Given the description of an element on the screen output the (x, y) to click on. 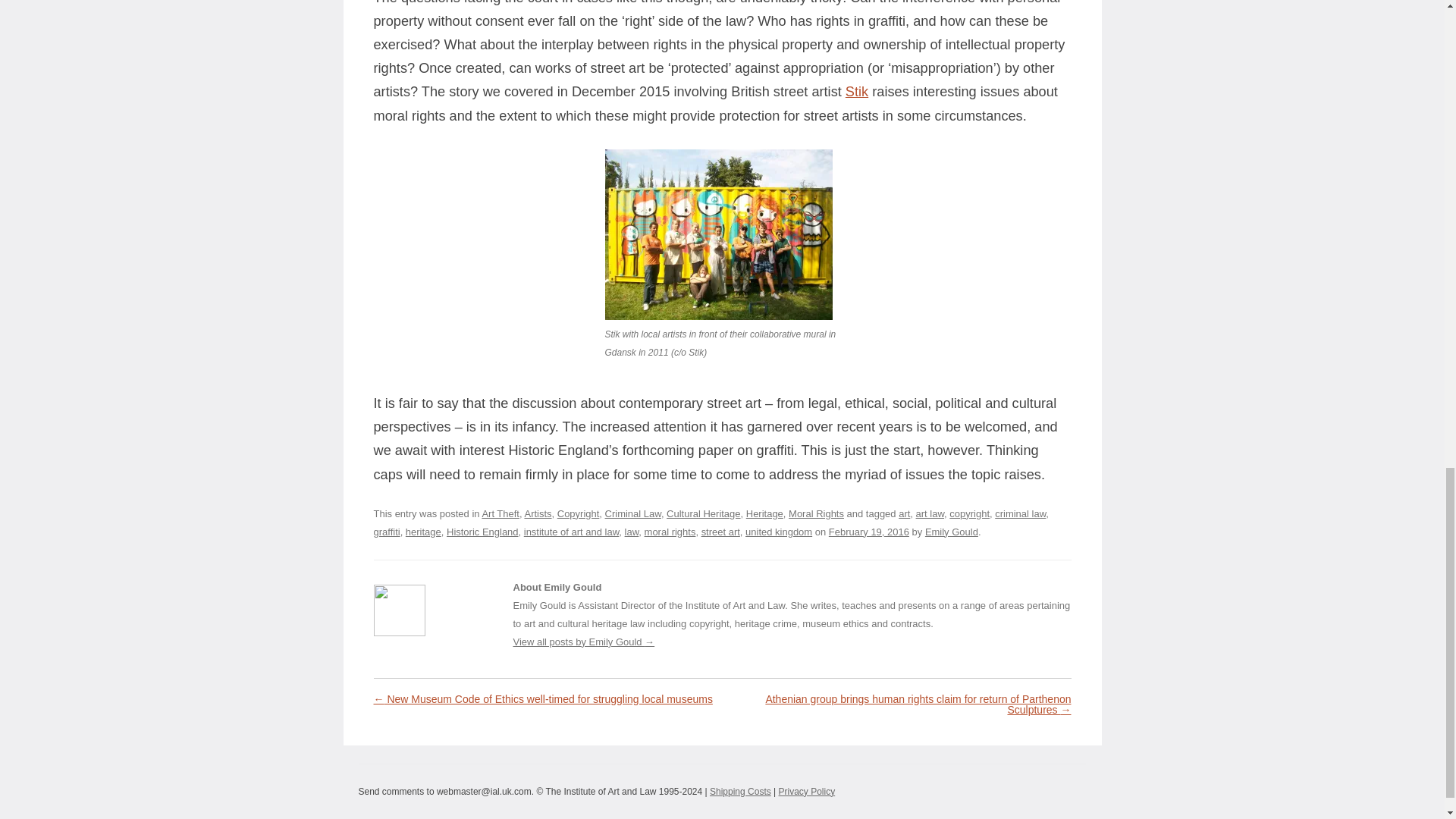
Artists (537, 513)
View all posts by Emily Gould (951, 531)
Criminal Law (633, 513)
Cultural Heritage (702, 513)
Copyright (578, 513)
Art Theft (500, 513)
7:04 pm (868, 531)
Stik (856, 91)
